Given the description of an element on the screen output the (x, y) to click on. 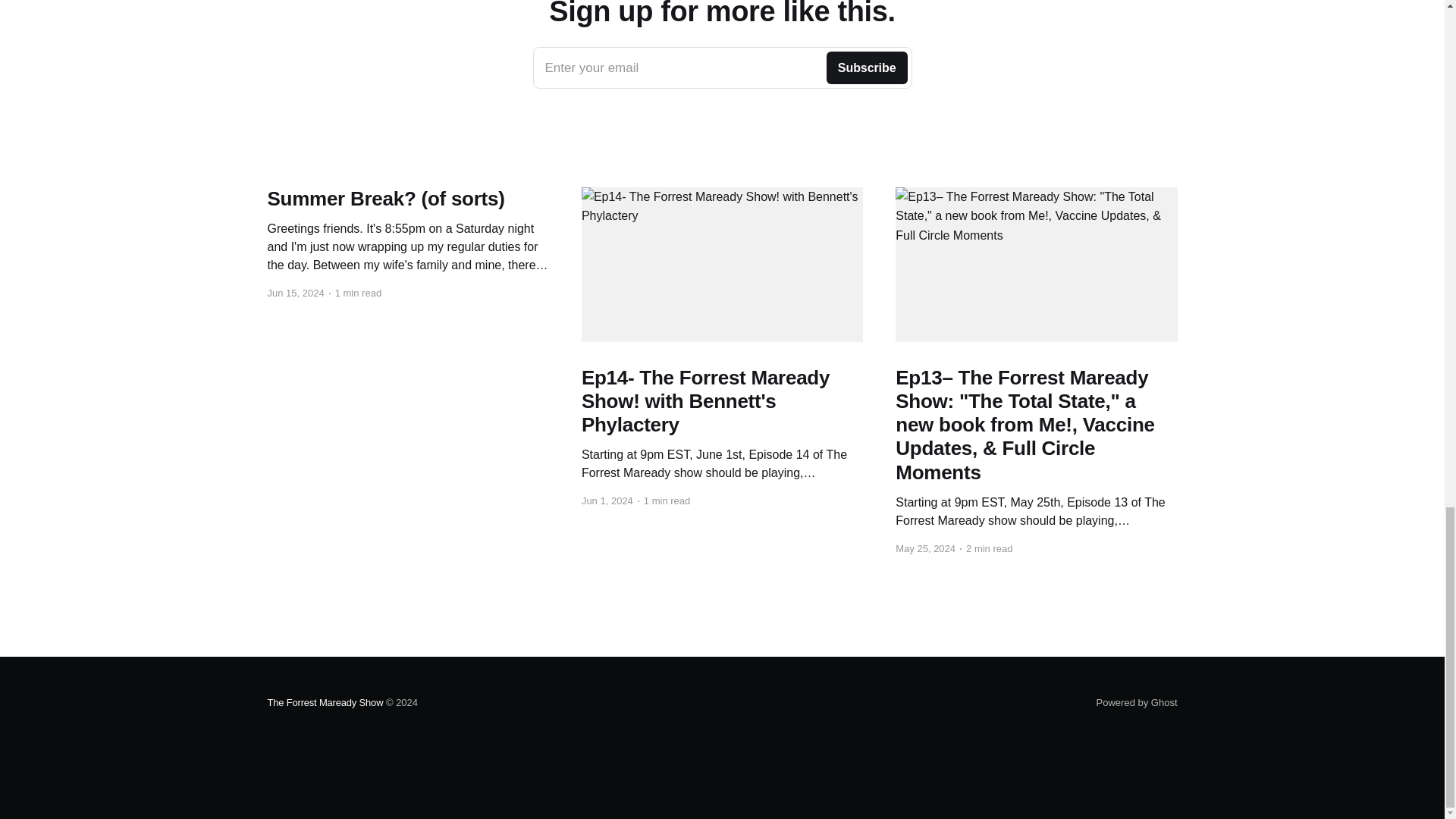
The Forrest Maready Show (324, 702)
Powered by Ghost (721, 67)
